Given the description of an element on the screen output the (x, y) to click on. 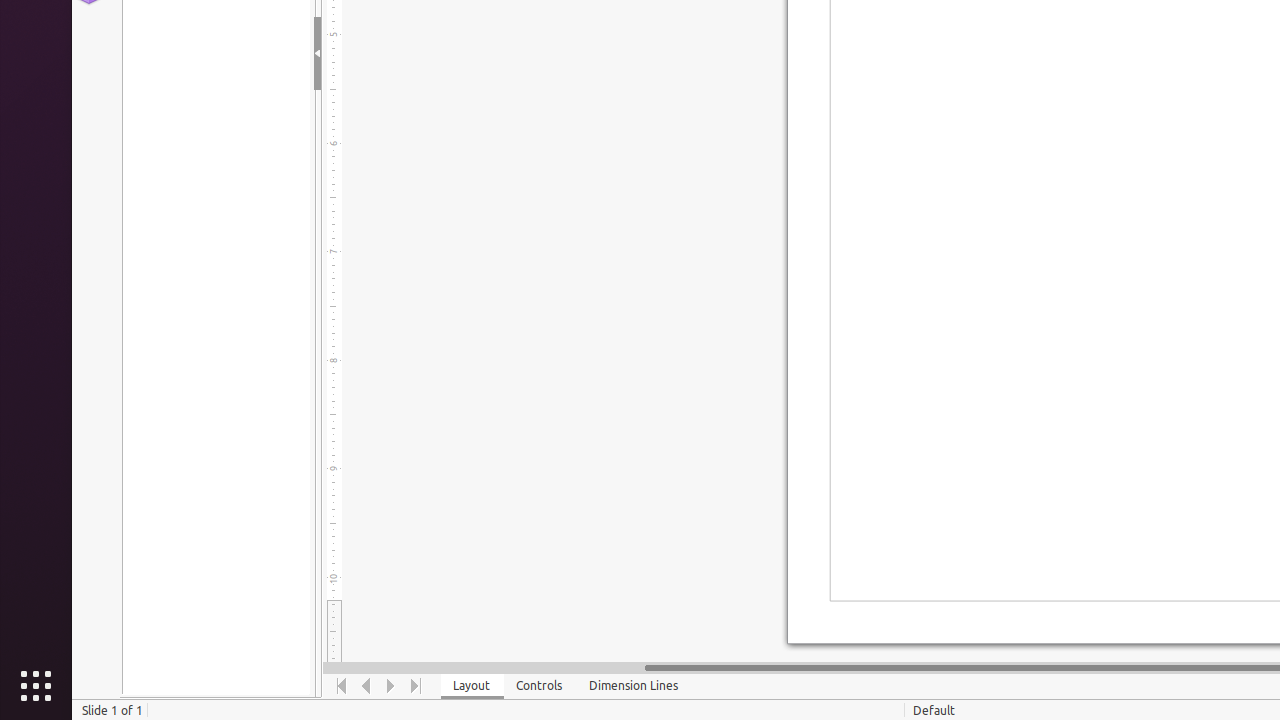
Layout Element type: page-tab (472, 686)
Move Right Element type: push-button (391, 686)
Move To End Element type: push-button (416, 686)
Move Left Element type: push-button (366, 686)
Show Applications Element type: toggle-button (36, 686)
